Given the description of an element on the screen output the (x, y) to click on. 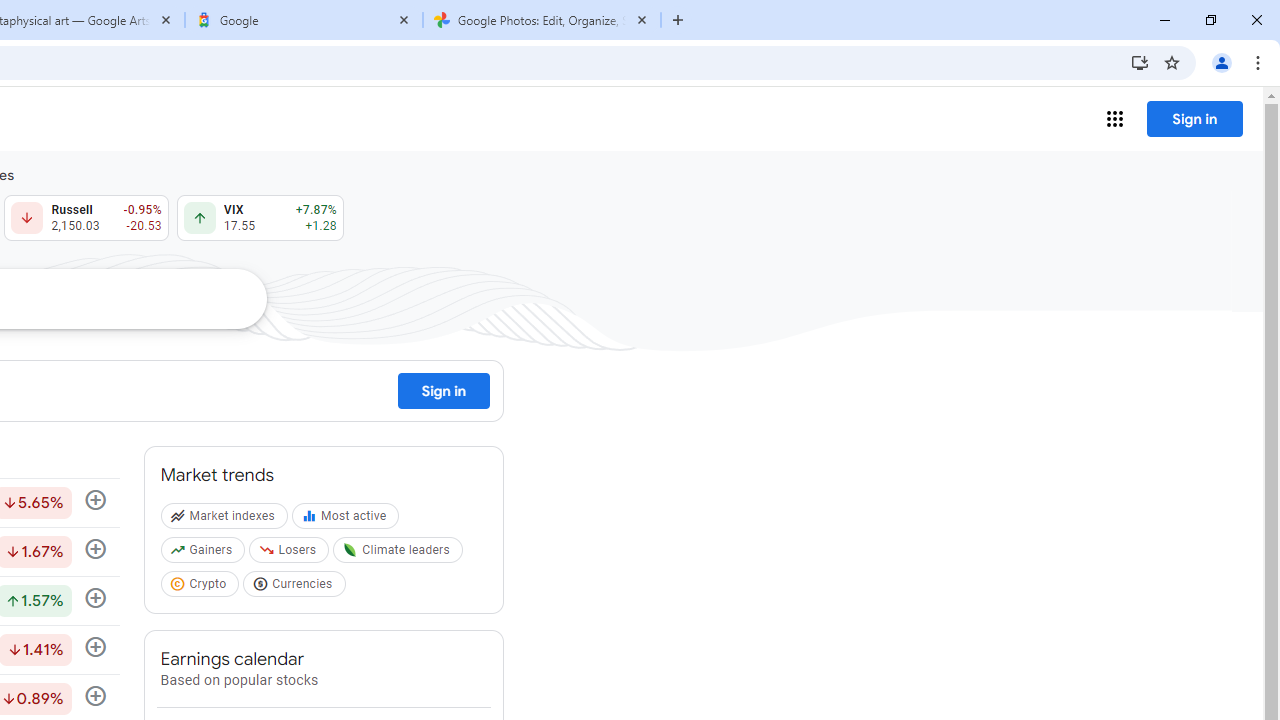
Most active (347, 520)
Gainers (204, 553)
VIX 17.55 Up by 7.87% +1.28 (260, 218)
Crypto (202, 587)
Google (304, 20)
GLeaf logo Climate leaders (399, 553)
Losers (291, 553)
Install Google Finance (1139, 62)
